Given the description of an element on the screen output the (x, y) to click on. 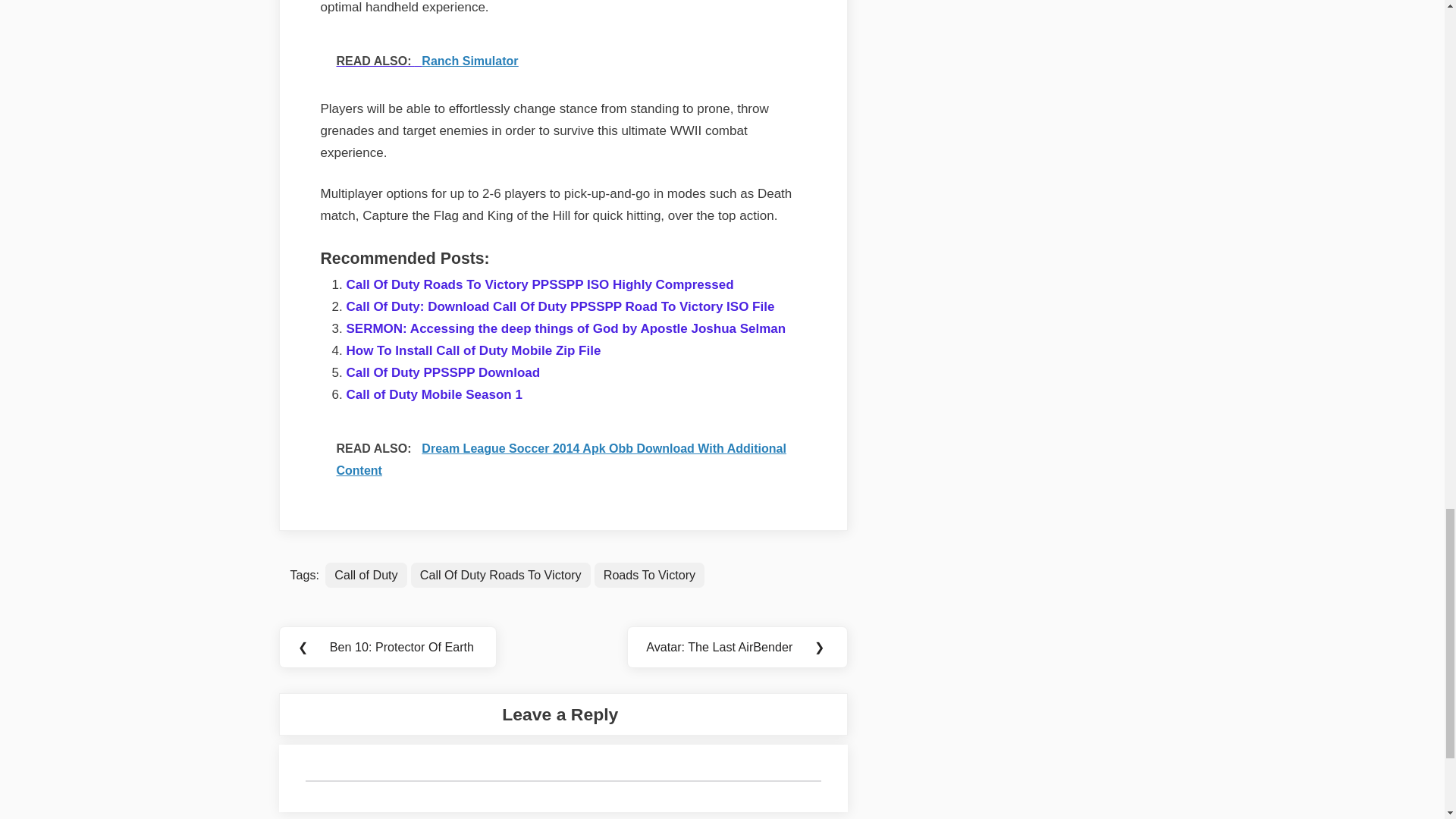
Call Of Duty PPSSPP Download (443, 372)
How To Install Call of Duty Mobile Zip File (472, 350)
Call Of Duty Roads To Victory PPSSPP ISO Highly Compressed (539, 284)
Call of Duty Mobile Season 1 (433, 394)
